Given the description of an element on the screen output the (x, y) to click on. 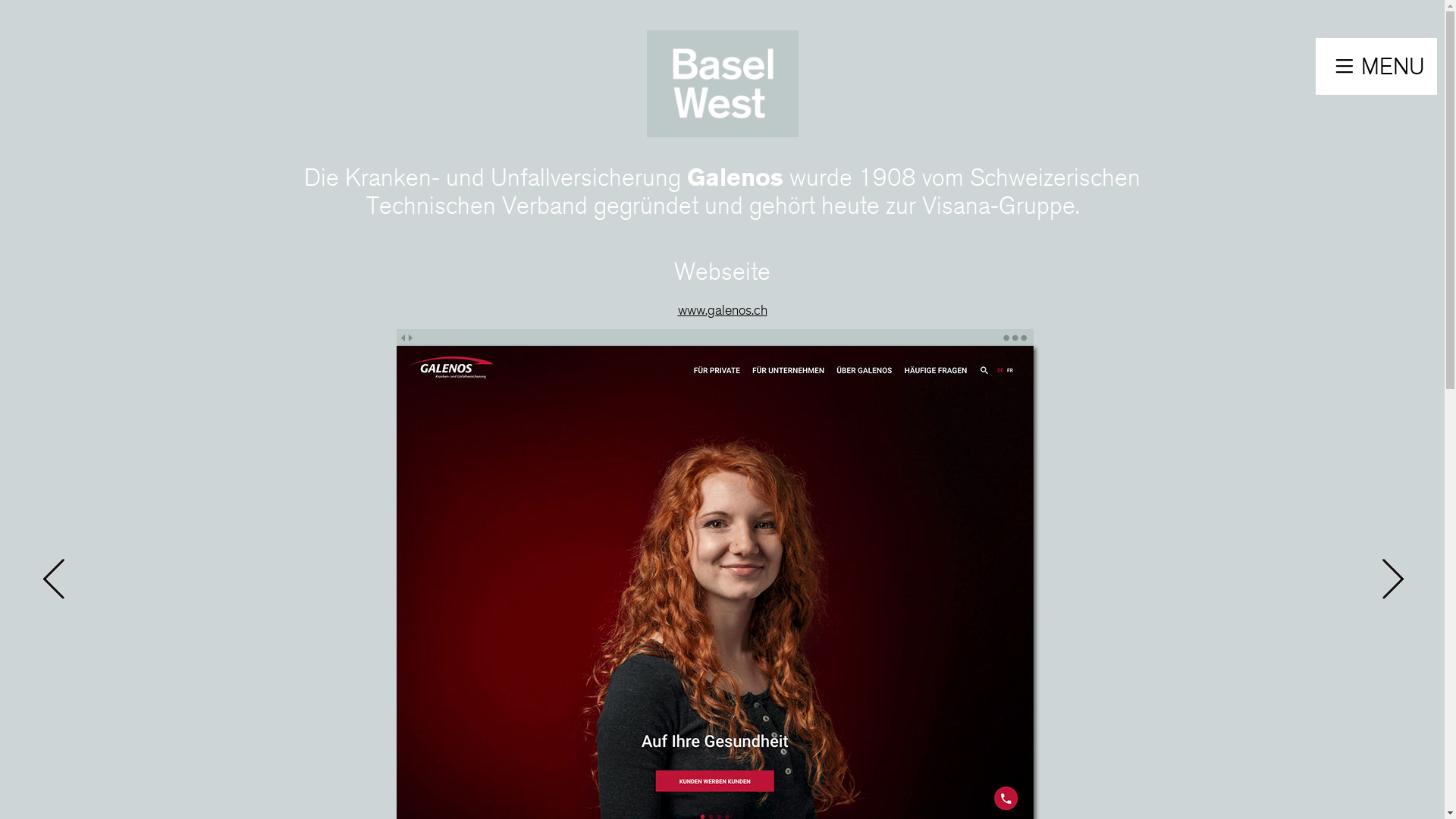
www.galenos.ch Element type: text (722, 309)
Anmelden Element type: text (707, 236)
